Given the description of an element on the screen output the (x, y) to click on. 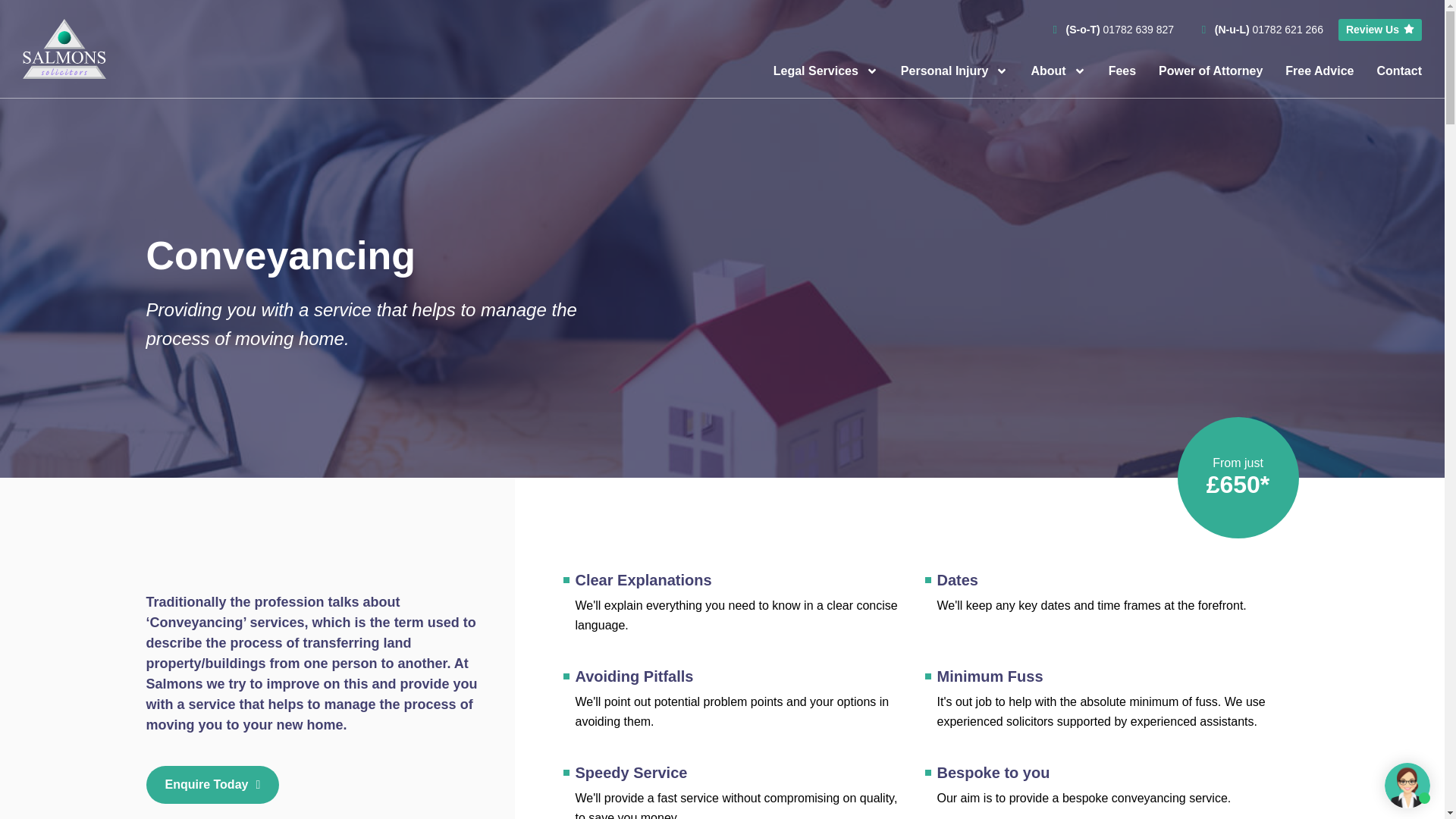
Review Us (1380, 29)
Power of Attorney (1210, 70)
About (1057, 70)
Fees (1121, 70)
Free Advice (1319, 70)
Legal Services (825, 70)
Personal Injury (955, 70)
Contact (1398, 70)
